Given the description of an element on the screen output the (x, y) to click on. 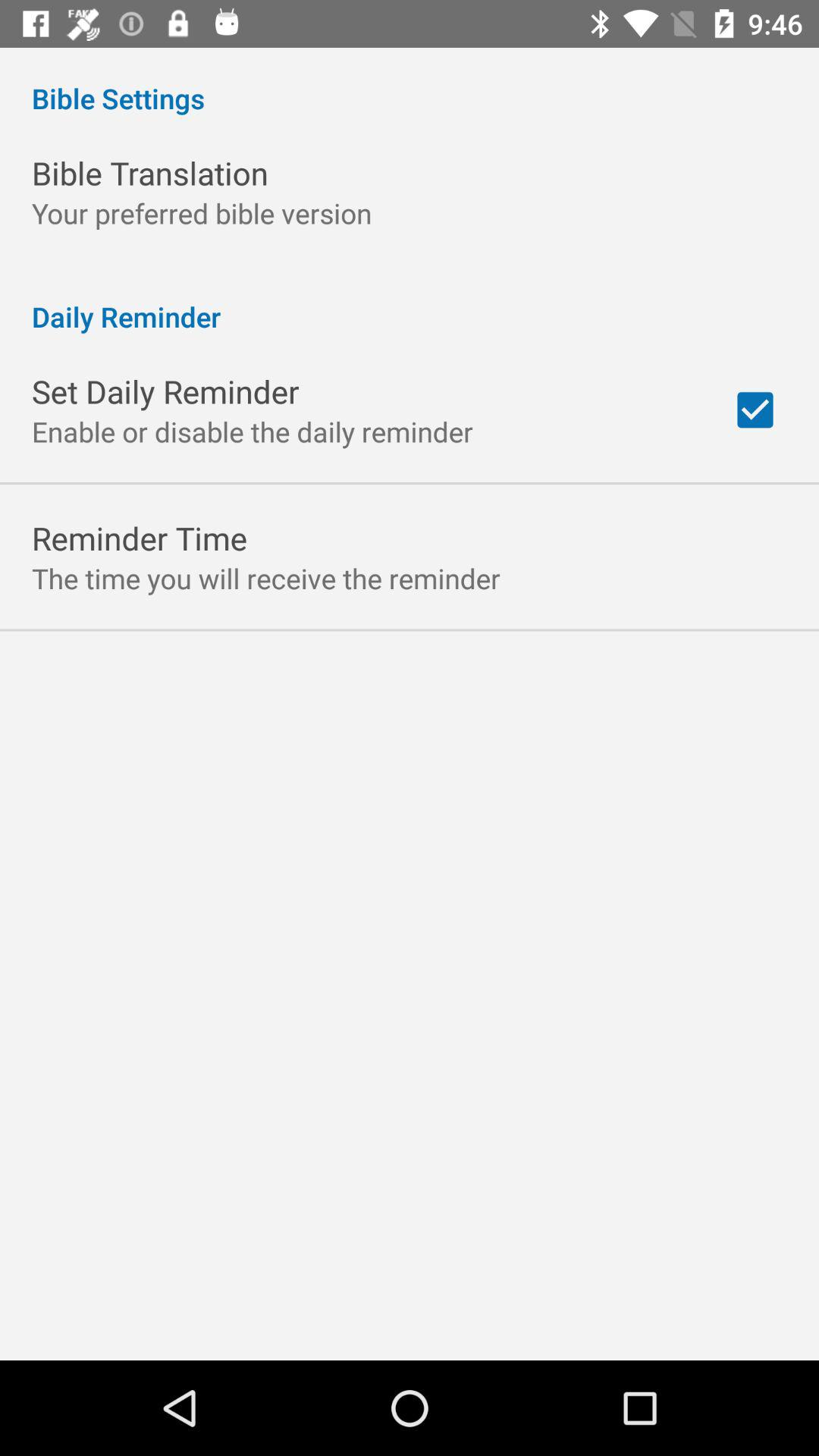
choose app below bible settings item (149, 172)
